Given the description of an element on the screen output the (x, y) to click on. 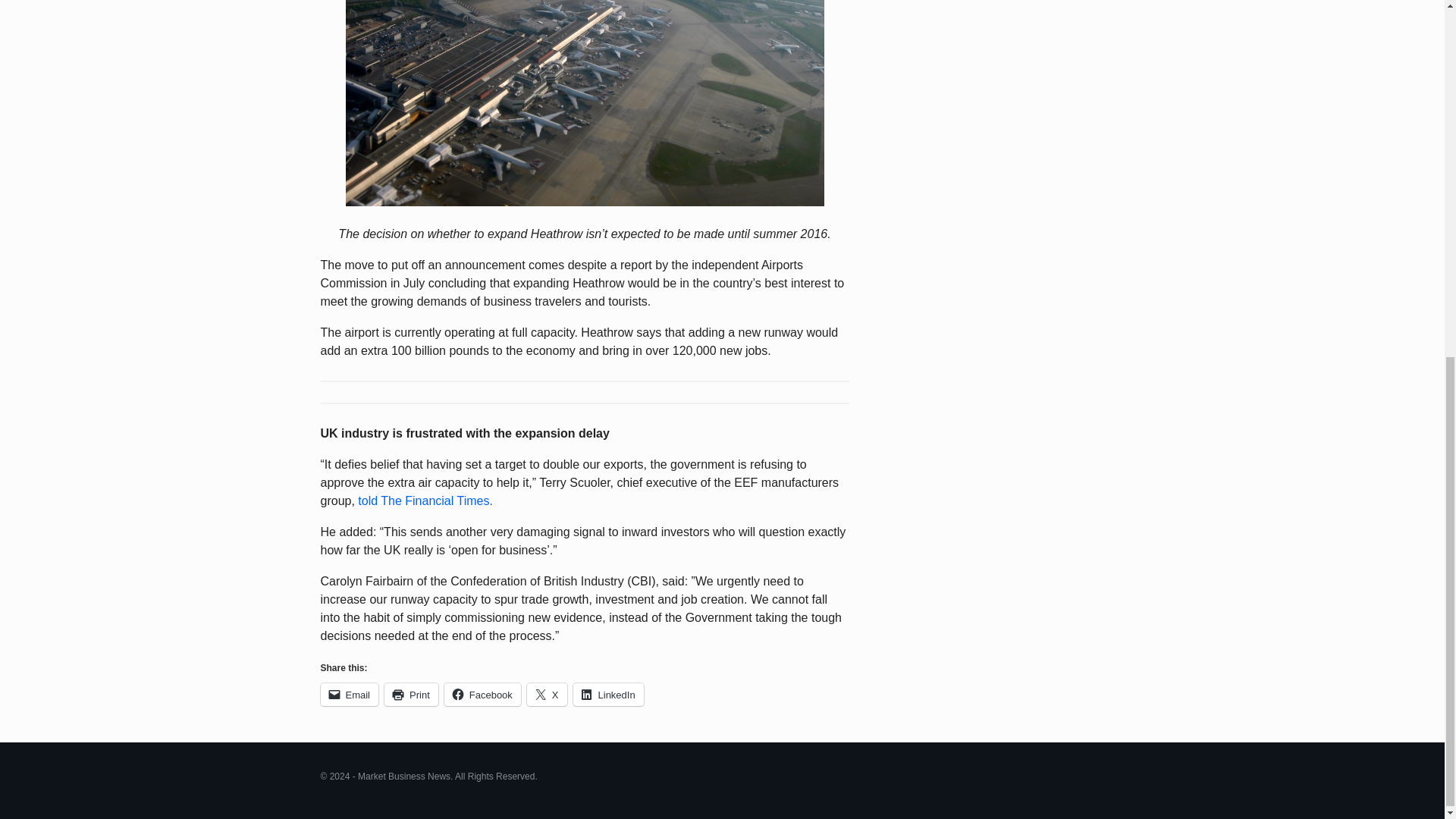
Click to print (411, 694)
Facebook (482, 694)
Email (349, 694)
Click to email a link to a friend (349, 694)
Print (411, 694)
X (547, 694)
Click to share on X (547, 694)
LinkedIn (608, 694)
Click to share on Facebook (482, 694)
told The Financial Times. (425, 500)
Click to share on LinkedIn (608, 694)
